Given the description of an element on the screen output the (x, y) to click on. 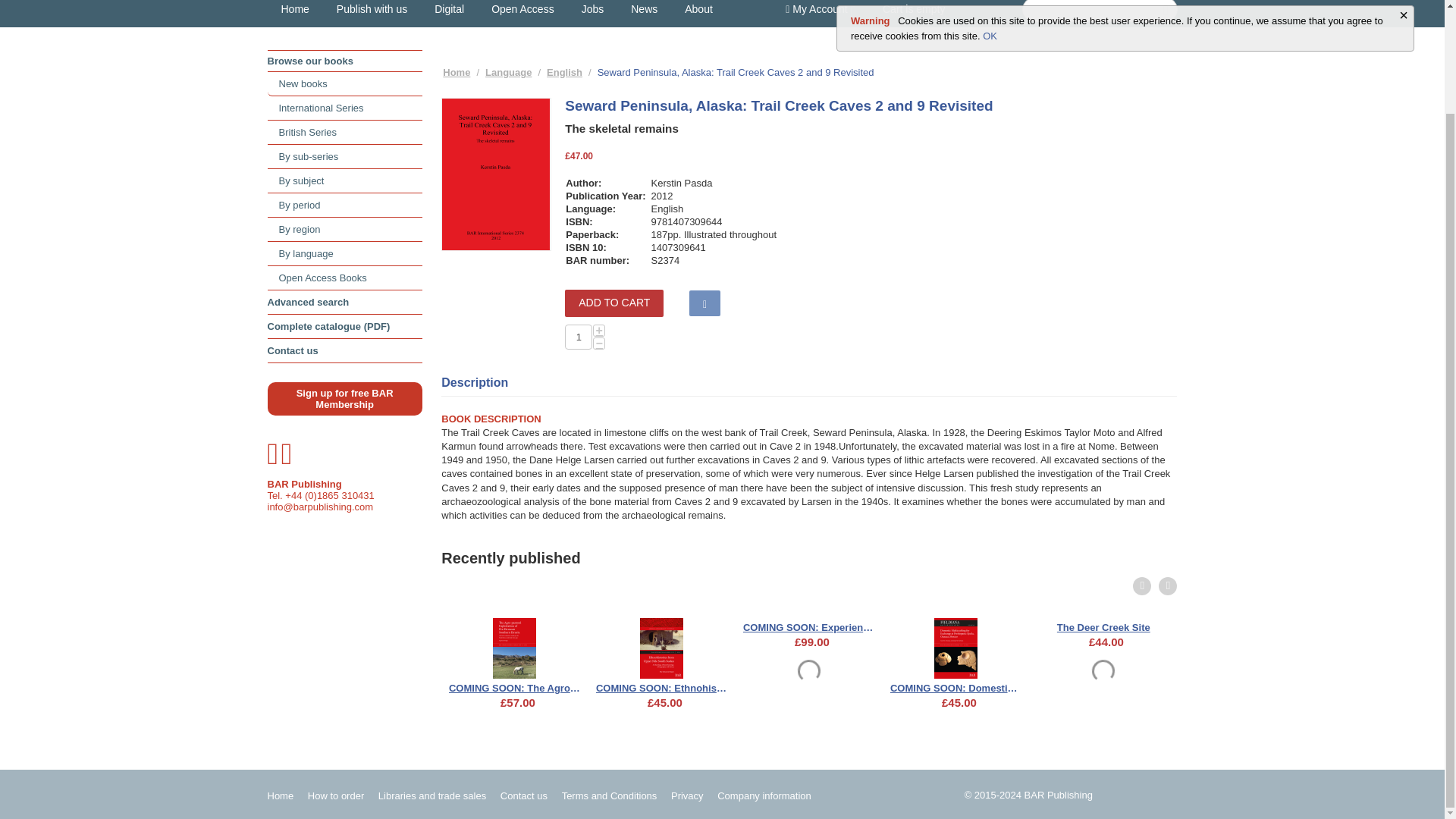
search Author, ISBN, Title, BAR number (1099, 11)
BAR on Twitter (273, 460)
By subject (344, 180)
Home (293, 13)
British Series (344, 132)
Cart is empty (913, 13)
COMING SOON: Experiencing the Landscape in Antiquity 3 (809, 625)
About (698, 13)
Sign up for free BAR Membership (344, 398)
News (644, 13)
COMING SOON: Ethnohistories from Upper Nile South Sudan (662, 685)
International Series (344, 108)
Open Access Books (344, 278)
